Given the description of an element on the screen output the (x, y) to click on. 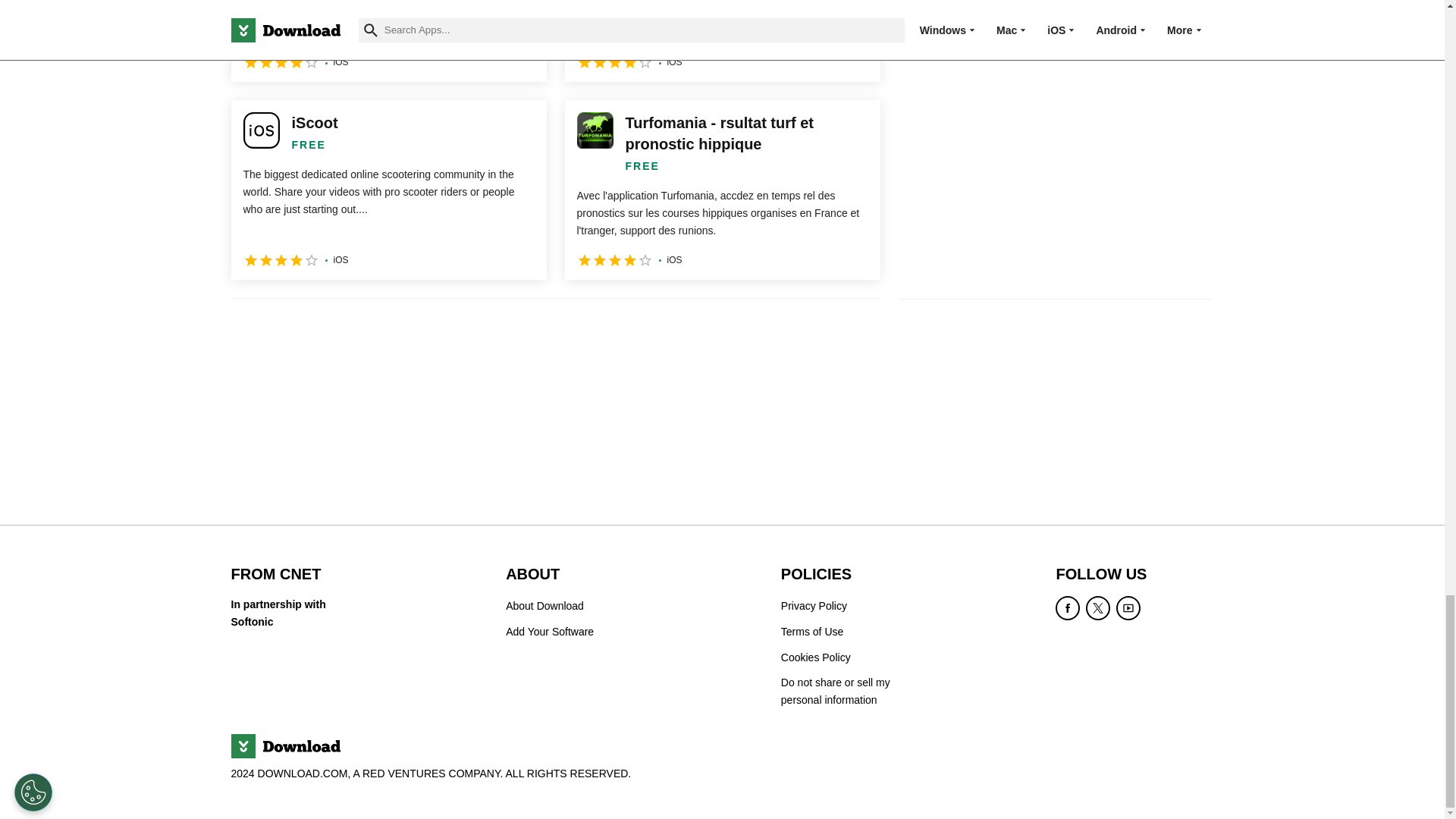
Turfomania - rsultat turf et pronostic hippique (721, 189)
Sierra Reloading Manual v6.0 (721, 40)
Strelok Pro (388, 40)
Download.com (284, 745)
Become a Facebook fan of Download.com (1067, 607)
iScoot (388, 189)
